Given the description of an element on the screen output the (x, y) to click on. 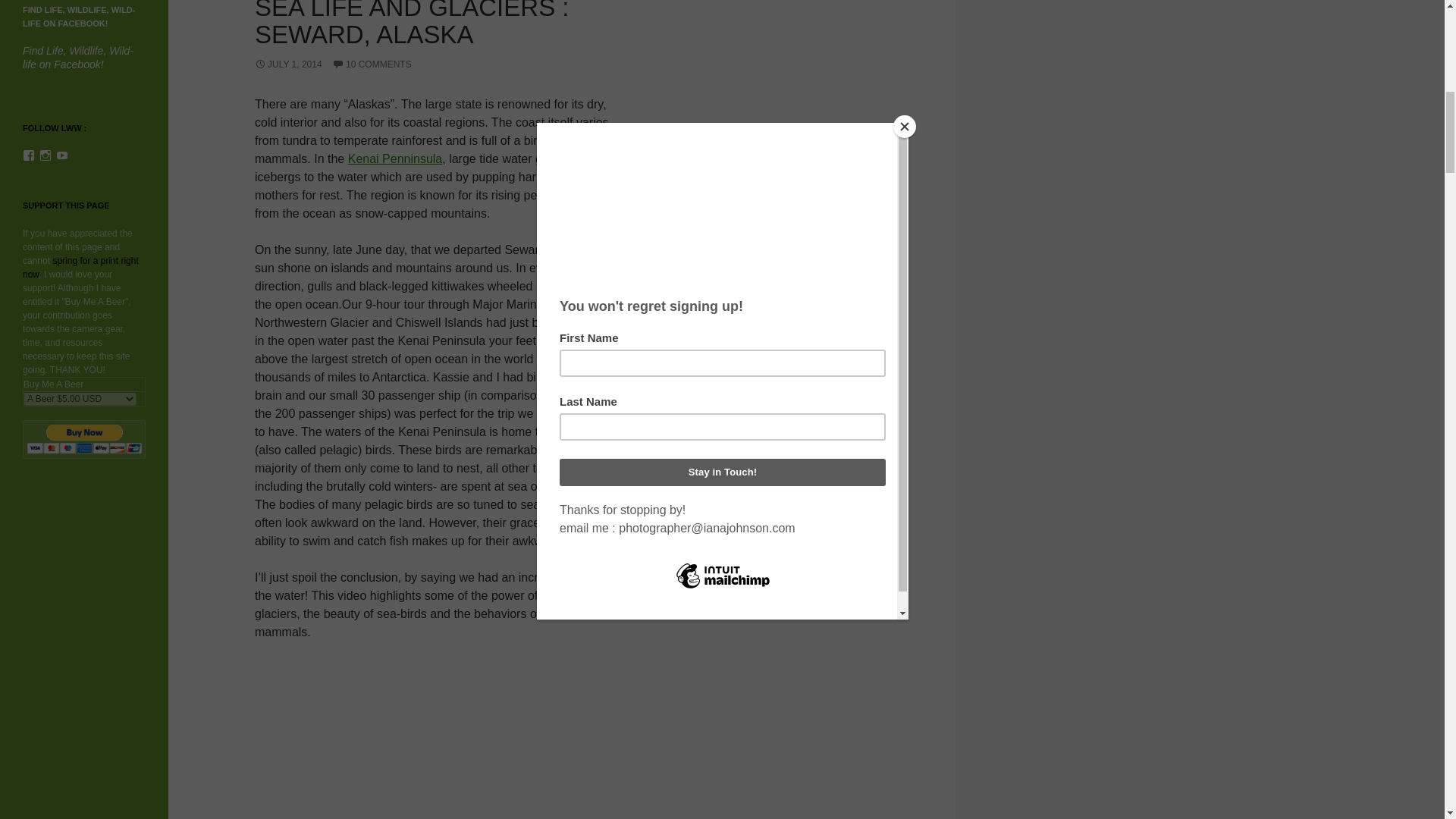
10 COMMENTS (371, 63)
SEA LIFE AND GLACIERS : SEWARD, ALASKA (411, 24)
Kenai Penninsula (394, 158)
JULY 1, 2014 (287, 63)
